Given the description of an element on the screen output the (x, y) to click on. 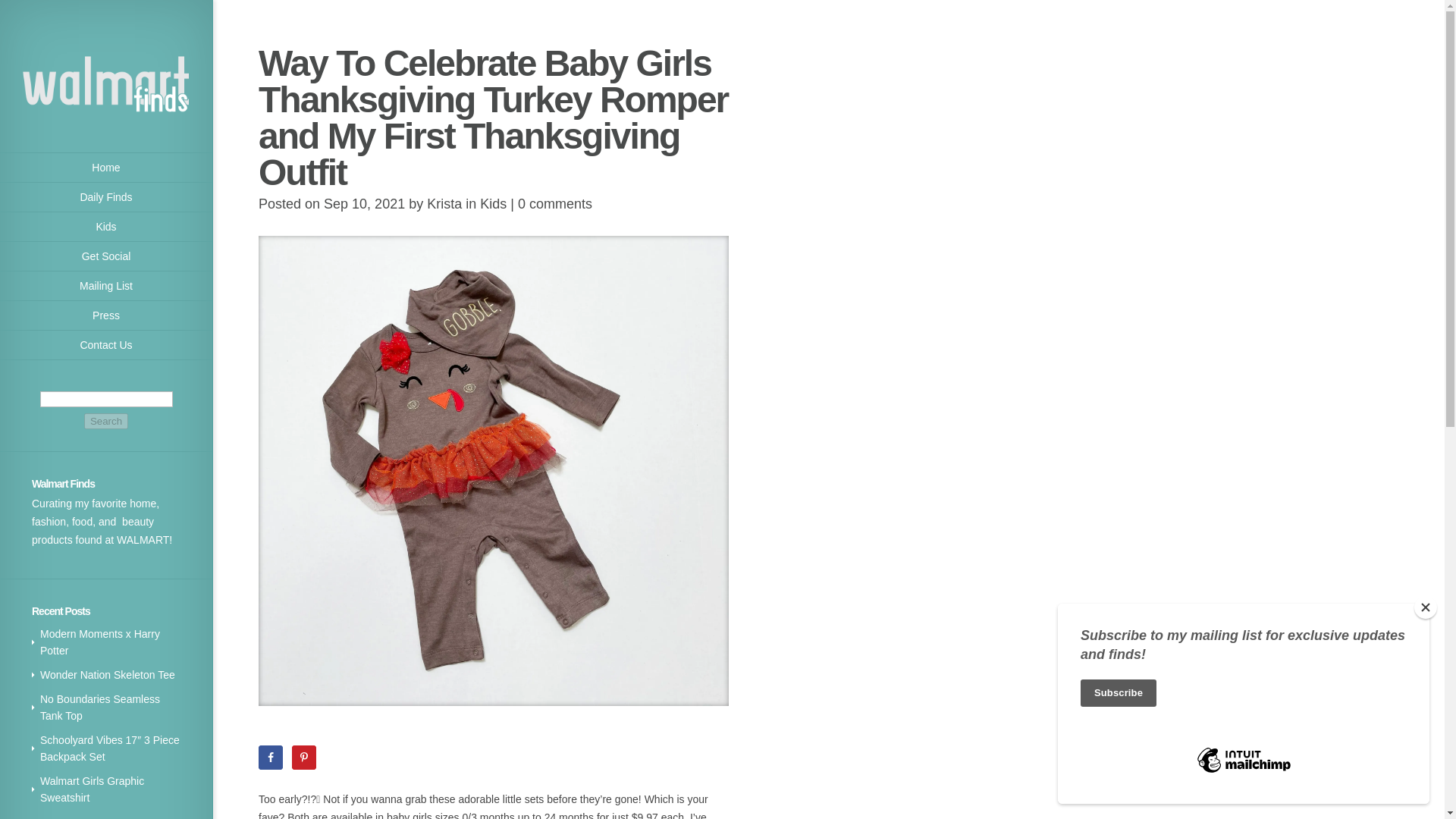
0 comments (555, 203)
Home (106, 167)
Search (106, 421)
Wonder Nation Skeleton Tee (107, 674)
Kids (493, 203)
Krista (443, 203)
Modern Moments x Harry Potter (100, 642)
Save to Pinterest (303, 757)
Mailing List (106, 286)
Kids (106, 226)
Get Social (106, 256)
Share on Facebook (270, 757)
Press (106, 315)
Walmart Girls Graphic Sweatshirt (92, 788)
Daily Finds (106, 197)
